Given the description of an element on the screen output the (x, y) to click on. 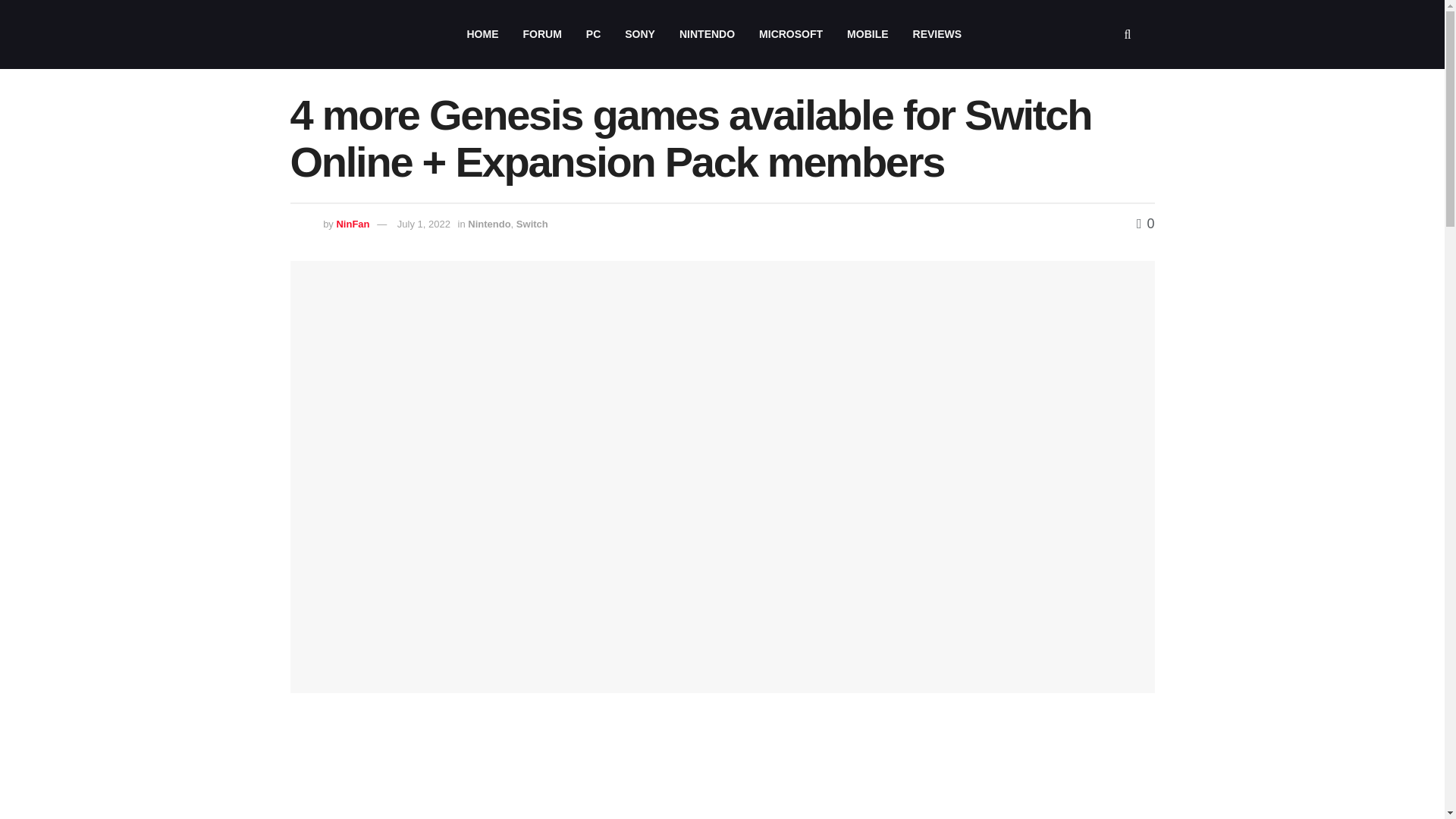
REVIEWS (937, 34)
NINTENDO (706, 34)
MOBILE (866, 34)
FORUM (542, 34)
NinFan (352, 224)
MICROSOFT (790, 34)
